Given the description of an element on the screen output the (x, y) to click on. 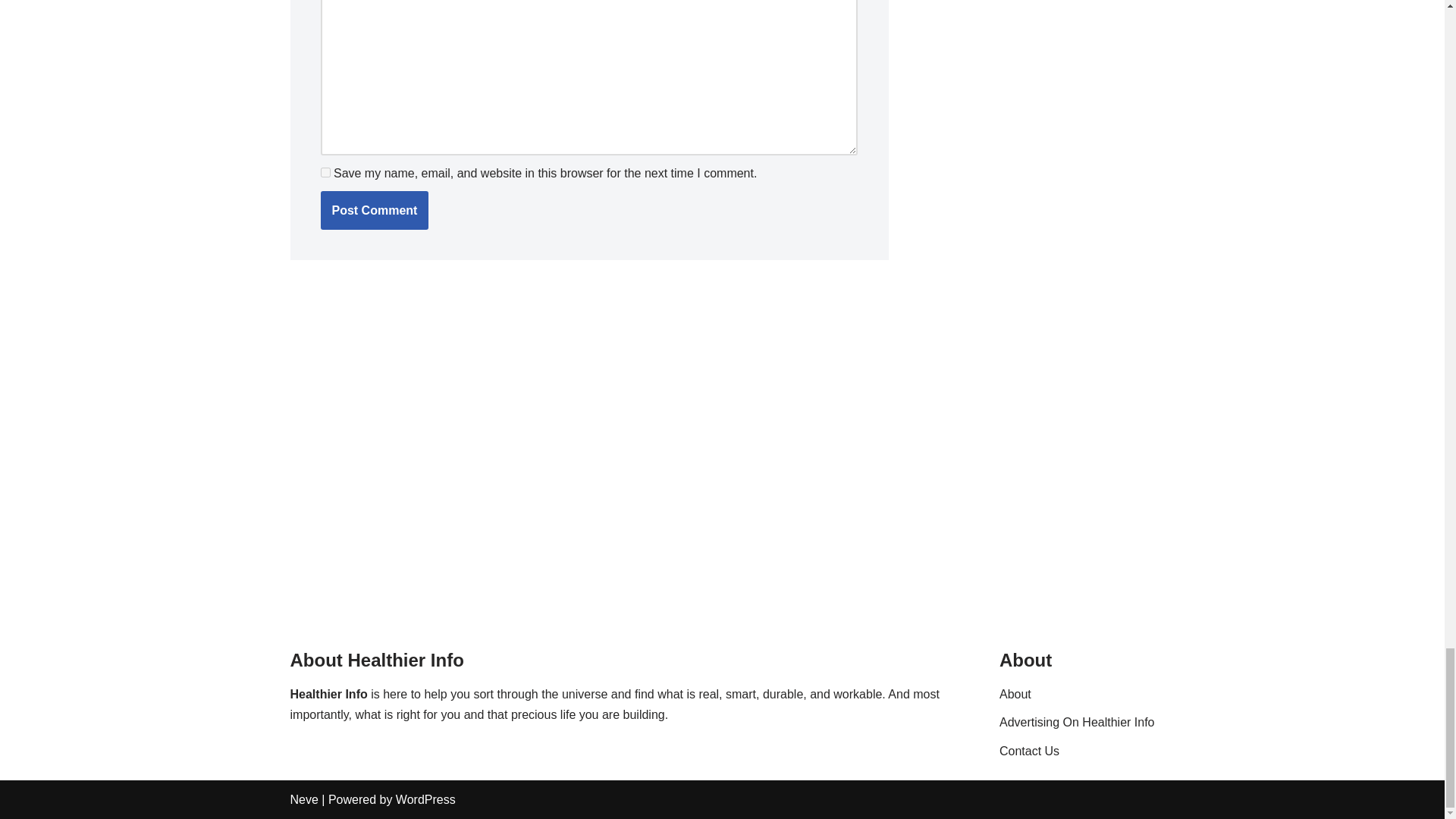
yes (325, 172)
Post Comment (374, 210)
Post Comment (374, 210)
